Given the description of an element on the screen output the (x, y) to click on. 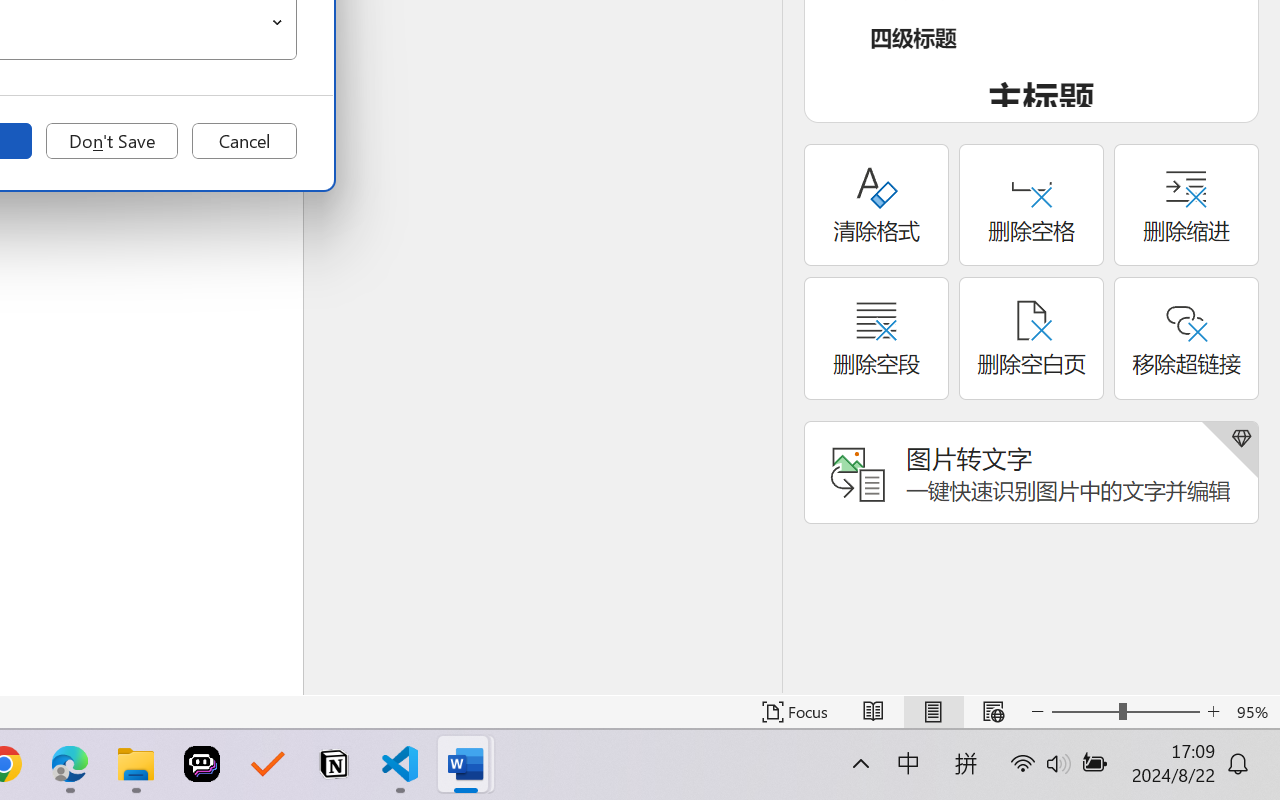
Cancel (244, 141)
